Given the description of an element on the screen output the (x, y) to click on. 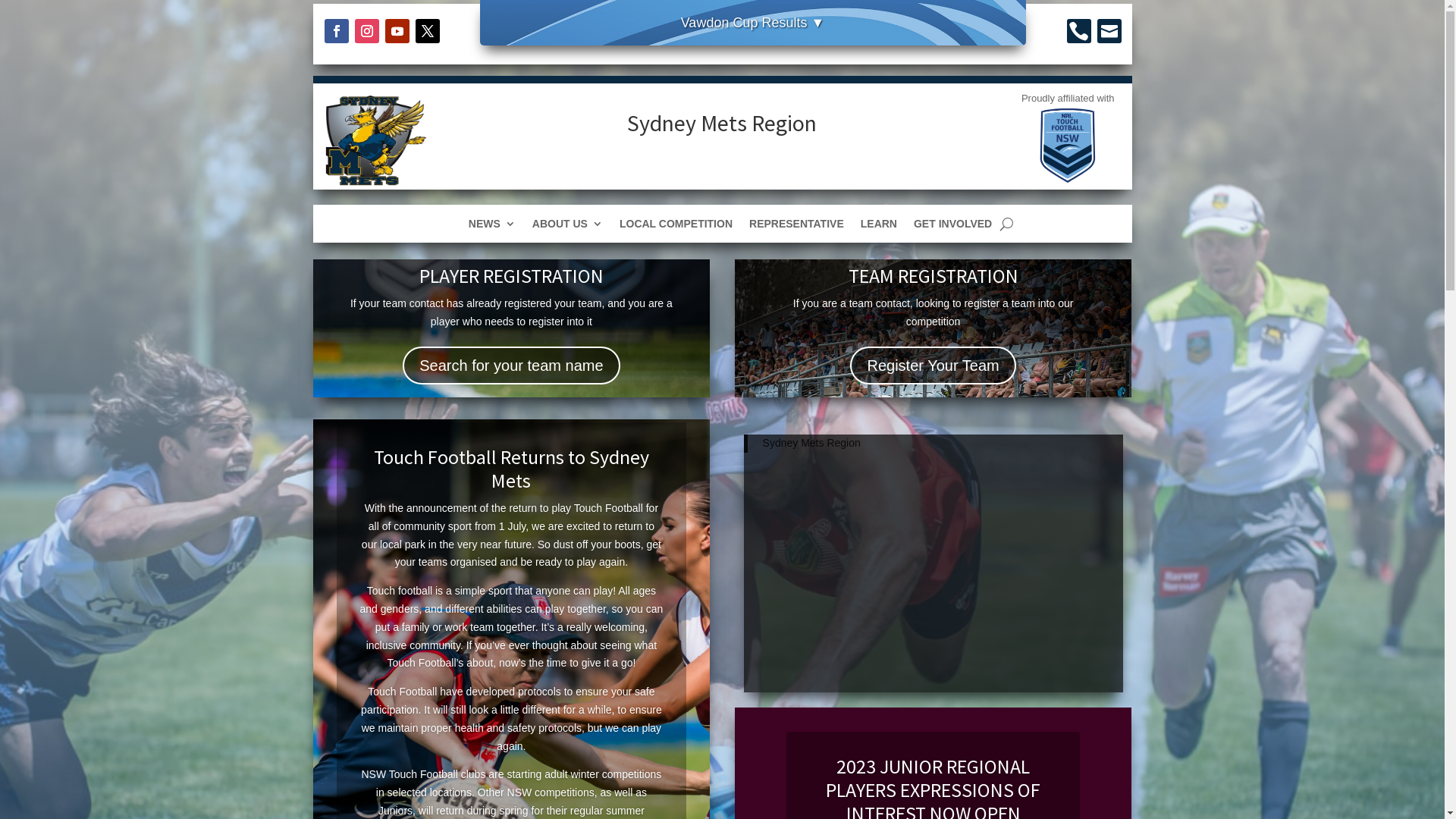
NEWS Element type: text (491, 226)
REPRESENTATIVE Element type: text (796, 226)
Search for your team name Element type: text (510, 365)
LOCAL COMPETITION Element type: text (675, 226)
Follow on X Element type: hover (427, 30)
Follow on Facebook Element type: hover (336, 30)
Search Element type: text (24, 13)
Sydney Mets Region Element type: text (811, 442)
LEARN Element type: text (878, 226)
ABOUT US Element type: text (567, 226)
Follow on Instagram Element type: hover (366, 30)
Register Your Team Element type: text (932, 365)
GET INVOLVED Element type: text (952, 226)
Follow on Youtube Element type: hover (397, 30)
